Given the description of an element on the screen output the (x, y) to click on. 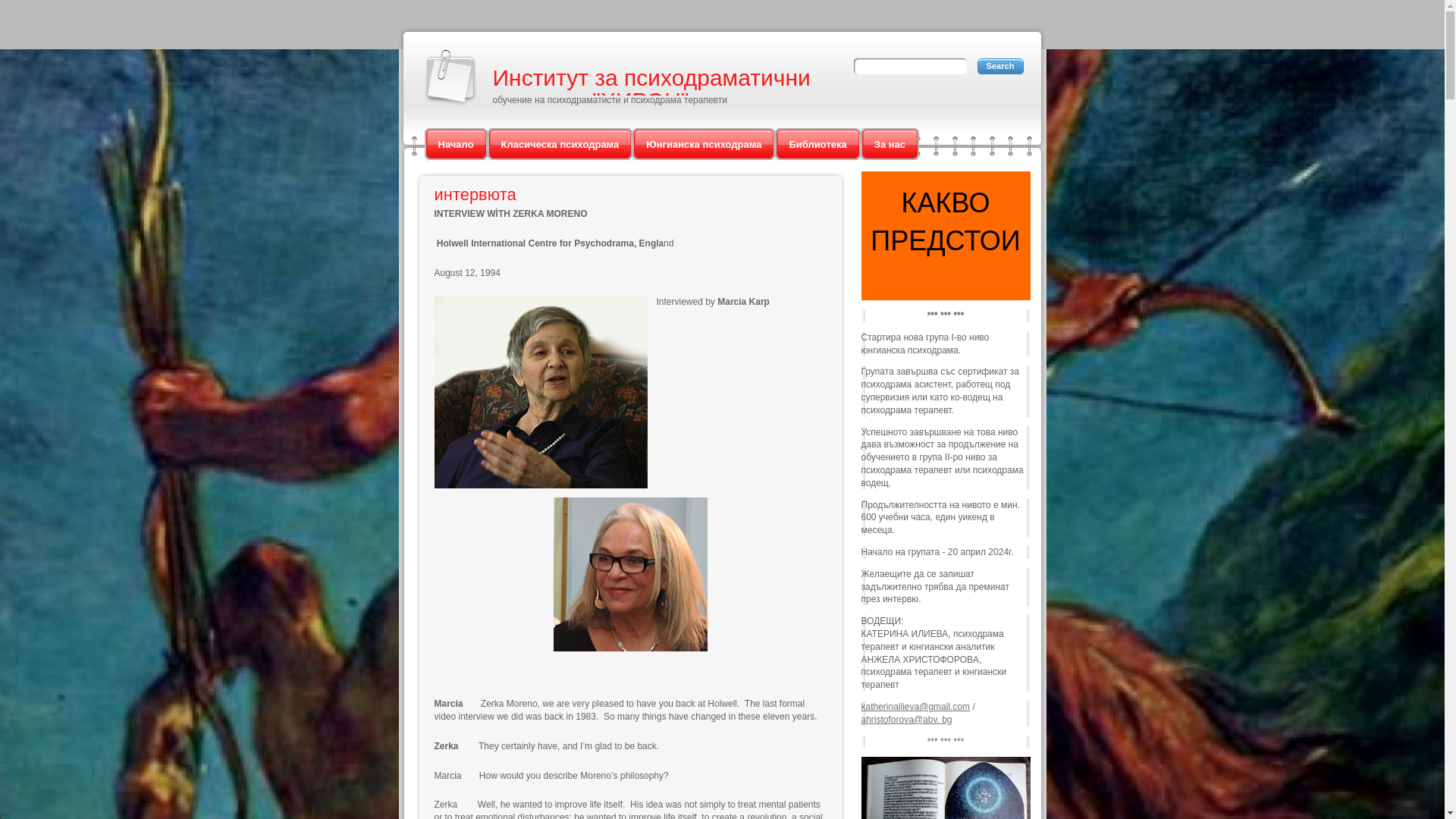
Search (999, 66)
Search (999, 66)
